Given the description of an element on the screen output the (x, y) to click on. 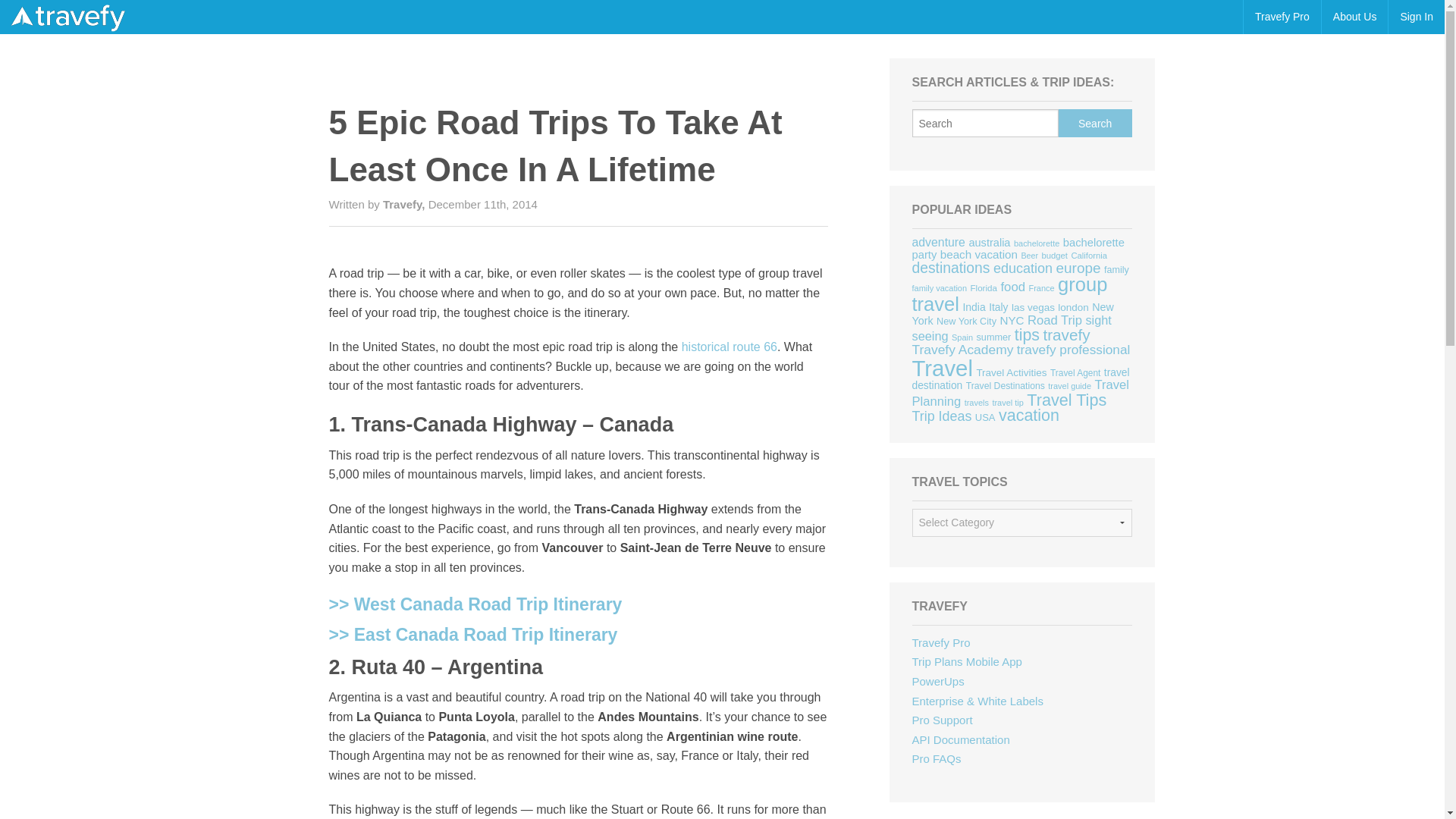
bachelorette (1036, 243)
Travefy, (405, 204)
historical route 66 (729, 346)
France (1041, 287)
Search (1095, 122)
budget (1054, 255)
beach vacation (978, 254)
bachelorette party (1018, 248)
group travel (1010, 293)
California (1088, 255)
Travefy Pro (1281, 17)
europe (1077, 268)
Florida (984, 287)
education (1022, 268)
family (1116, 269)
